Given the description of an element on the screen output the (x, y) to click on. 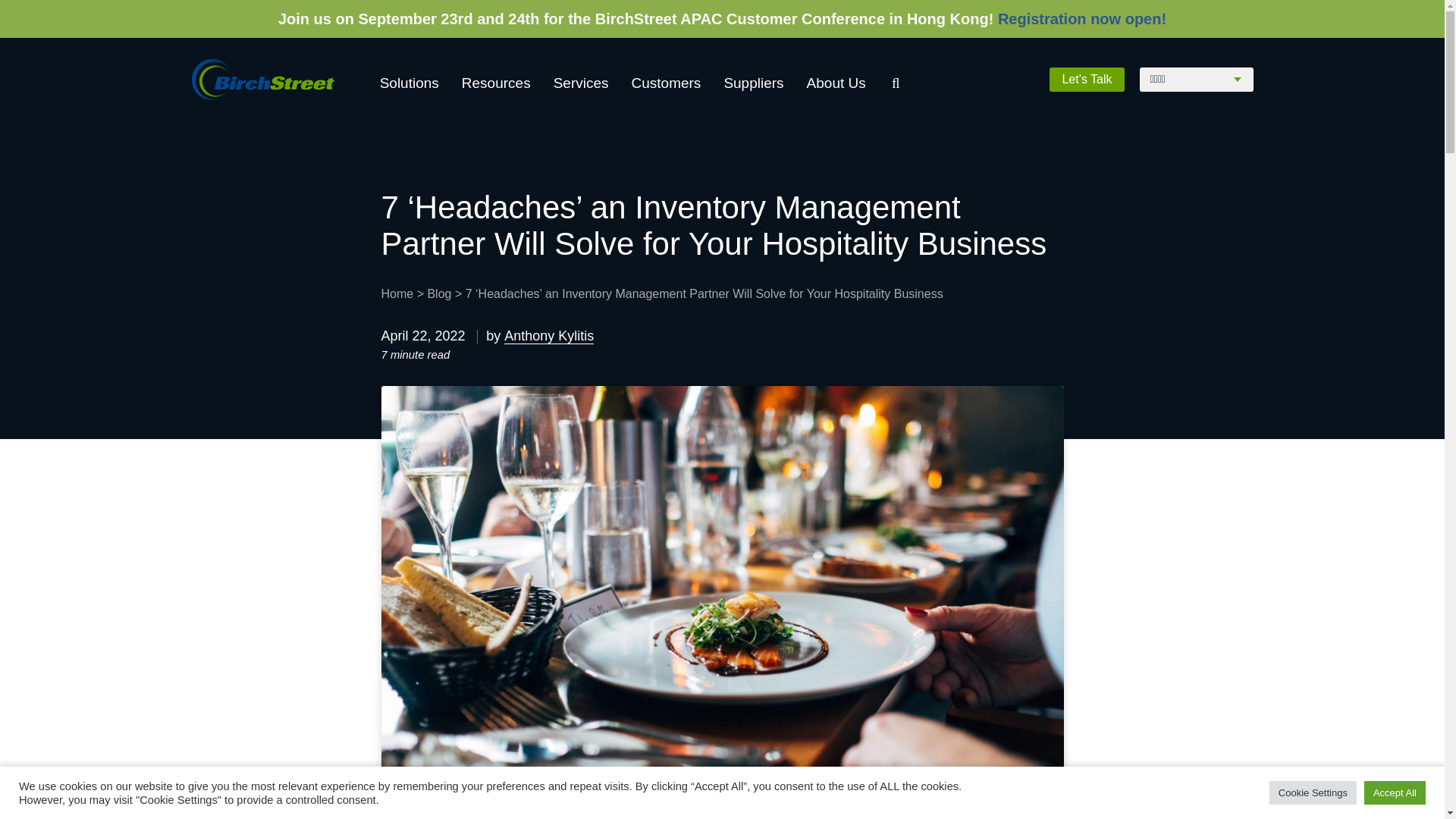
Registration now open! (1081, 18)
Solutions (409, 82)
Resources (496, 82)
